Given the description of an element on the screen output the (x, y) to click on. 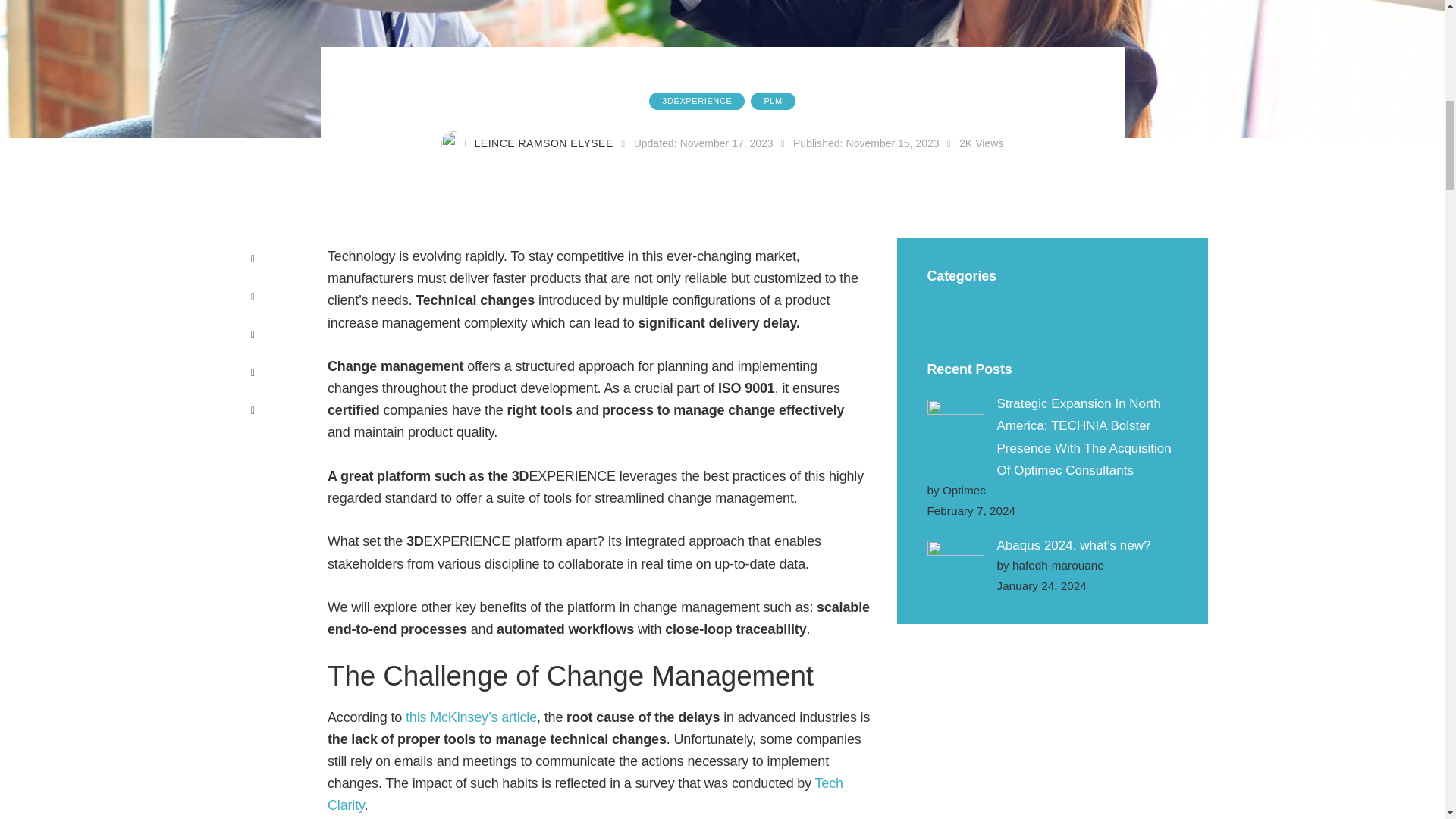
Copy URL to clipboard (251, 409)
